Given the description of an element on the screen output the (x, y) to click on. 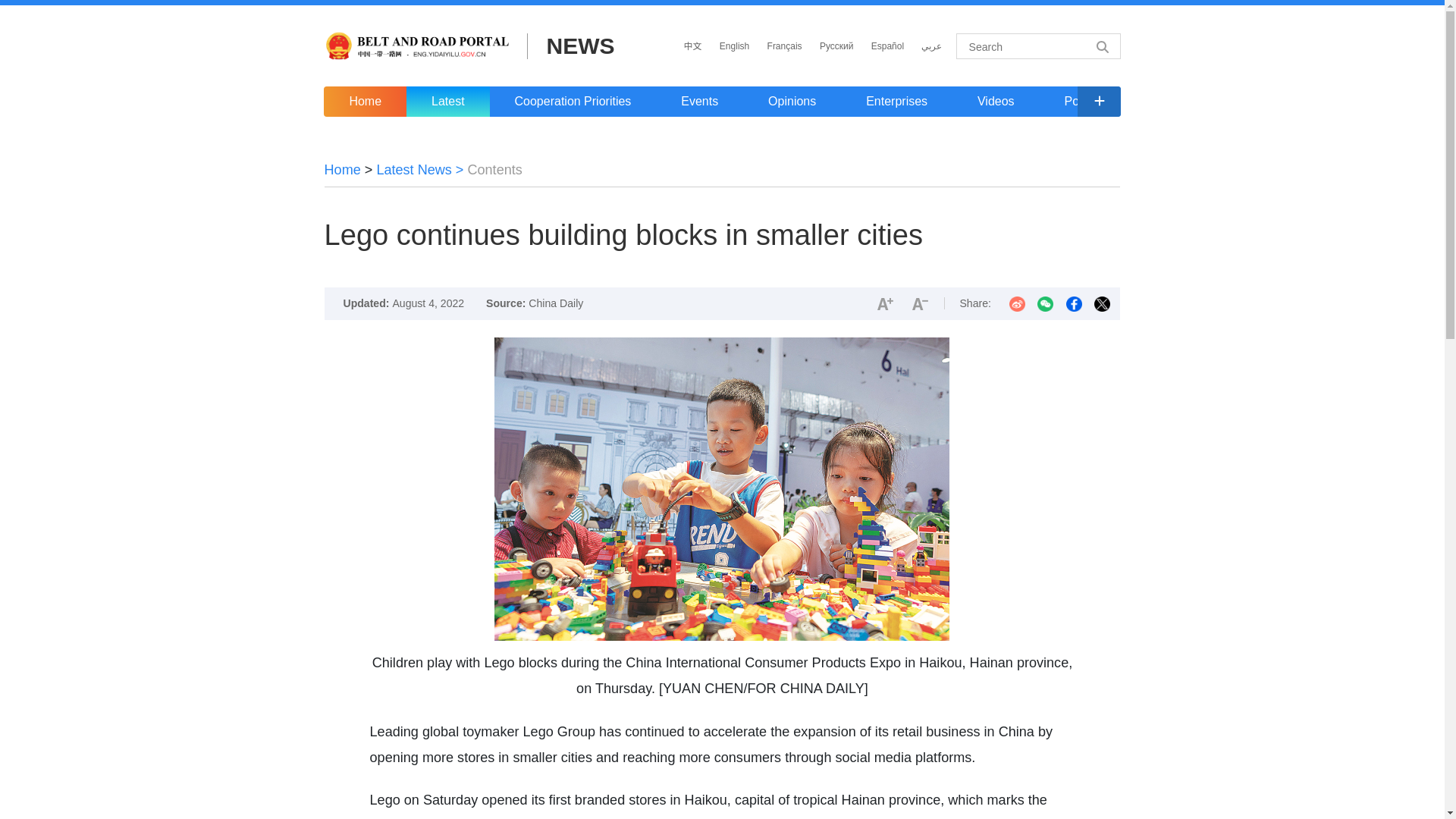
Cooperation Priorities (572, 101)
Latest (447, 101)
Videos (995, 101)
English (734, 46)
Facilities Connectivity (1276, 101)
Enterprises (896, 101)
Policy Coordination (1116, 101)
Home (342, 169)
Opinions (791, 101)
Home (364, 101)
